Given the description of an element on the screen output the (x, y) to click on. 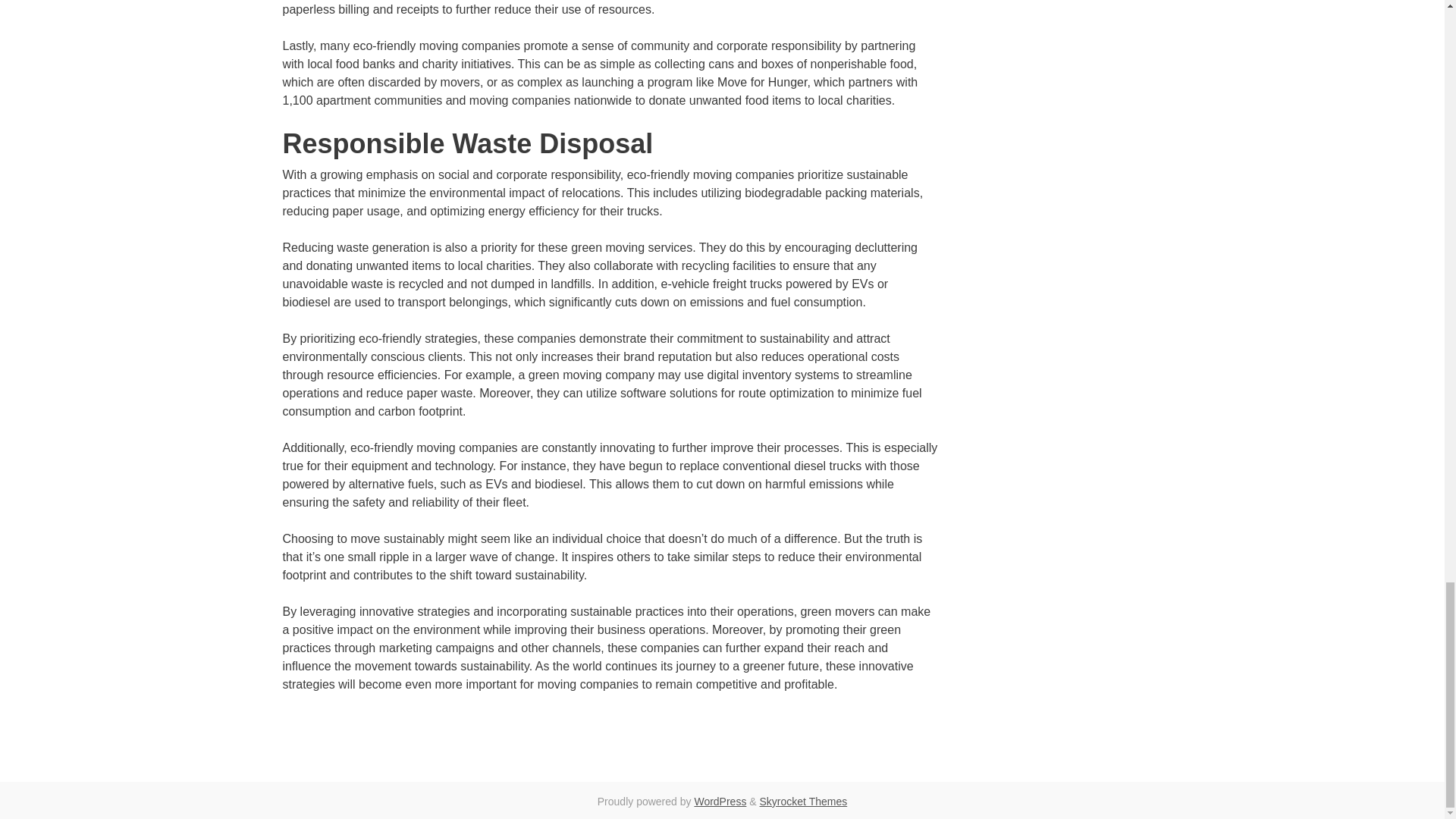
WordPress (719, 801)
Skyrocket Themes (803, 801)
Semantic Personal Publishing Platform (719, 801)
Skyrocket Themes (803, 801)
